Given the description of an element on the screen output the (x, y) to click on. 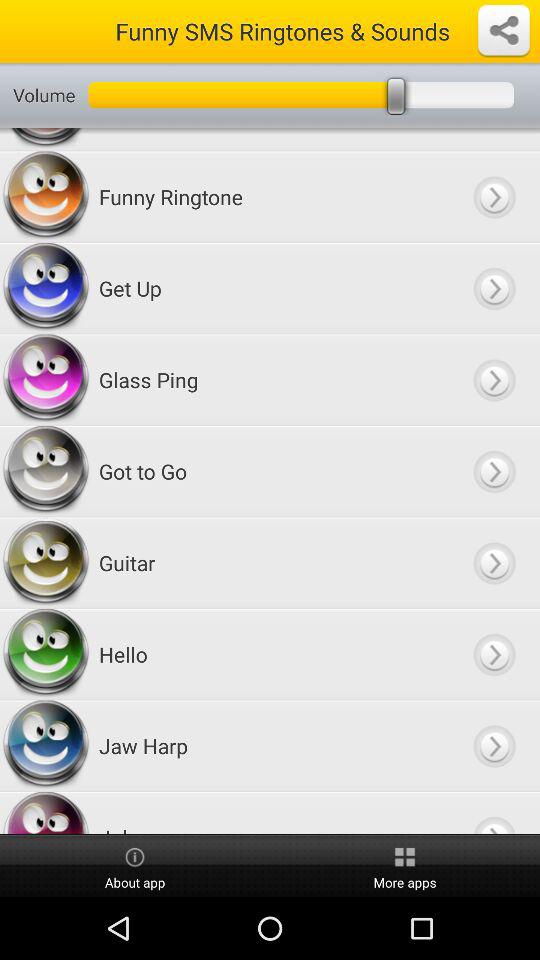
go to share (503, 31)
